Given the description of an element on the screen output the (x, y) to click on. 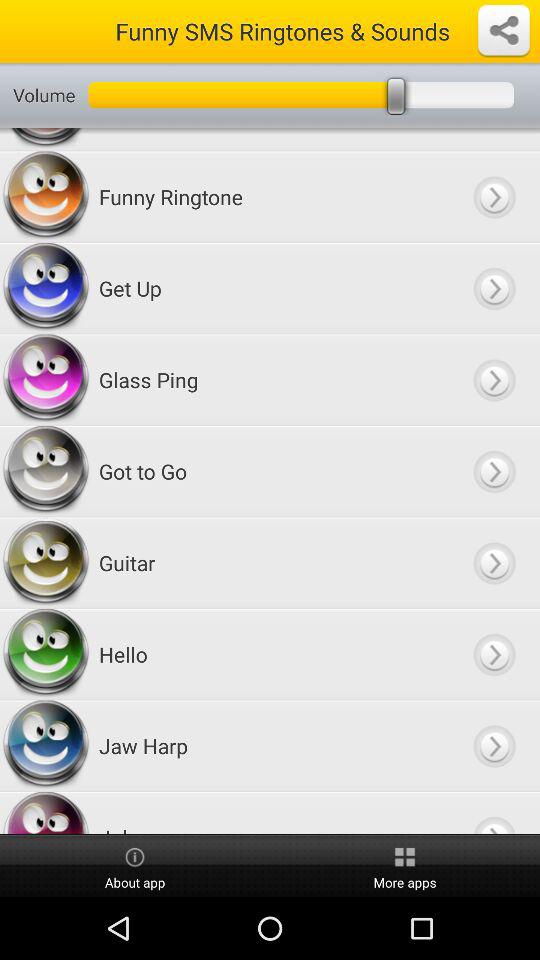
go to share (503, 31)
